Given the description of an element on the screen output the (x, y) to click on. 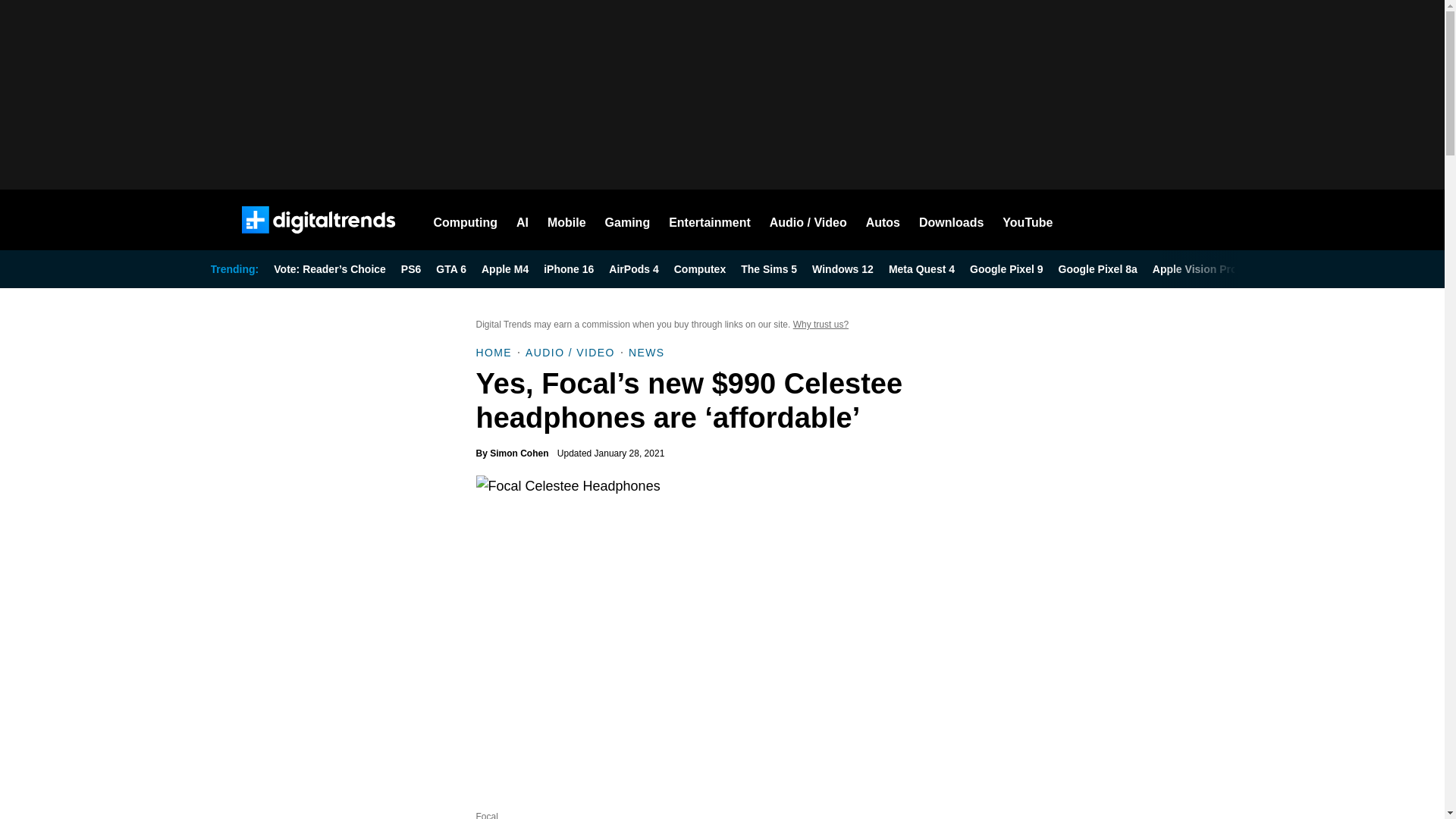
Entertainment (709, 219)
Downloads (951, 219)
Computing (465, 219)
